Given the description of an element on the screen output the (x, y) to click on. 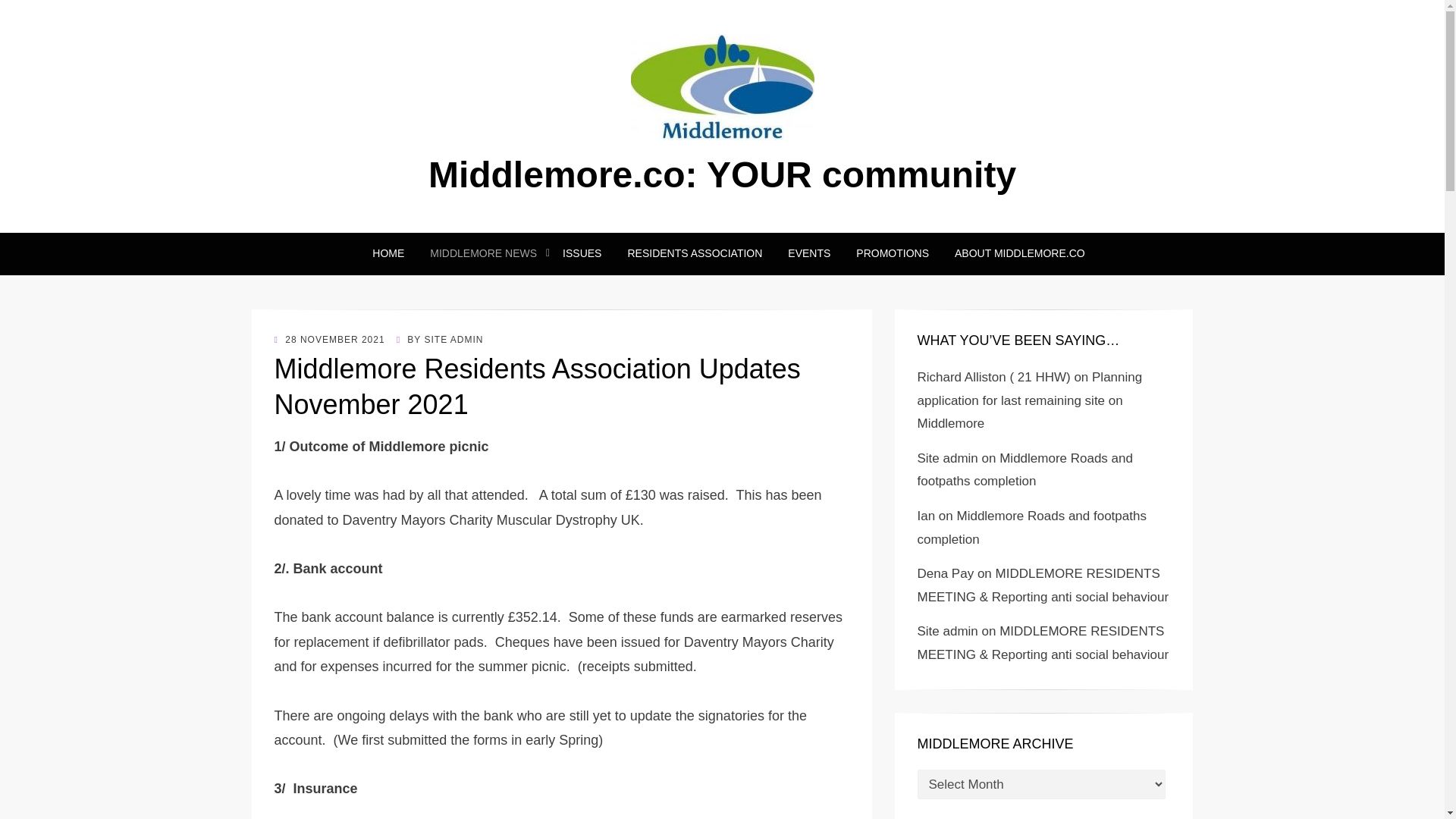
28 NOVEMBER 2021 (330, 339)
EVENTS (808, 253)
MIDDLEMORE NEWS (483, 253)
ABOUT MIDDLEMORE.CO (1013, 253)
Middlemore Roads and footpaths completion (1032, 527)
ISSUES (582, 253)
HOME (387, 253)
Middlemore.co: YOUR community (722, 174)
SITE ADMIN (453, 339)
RESIDENTS ASSOCIATION (694, 253)
